Given the description of an element on the screen output the (x, y) to click on. 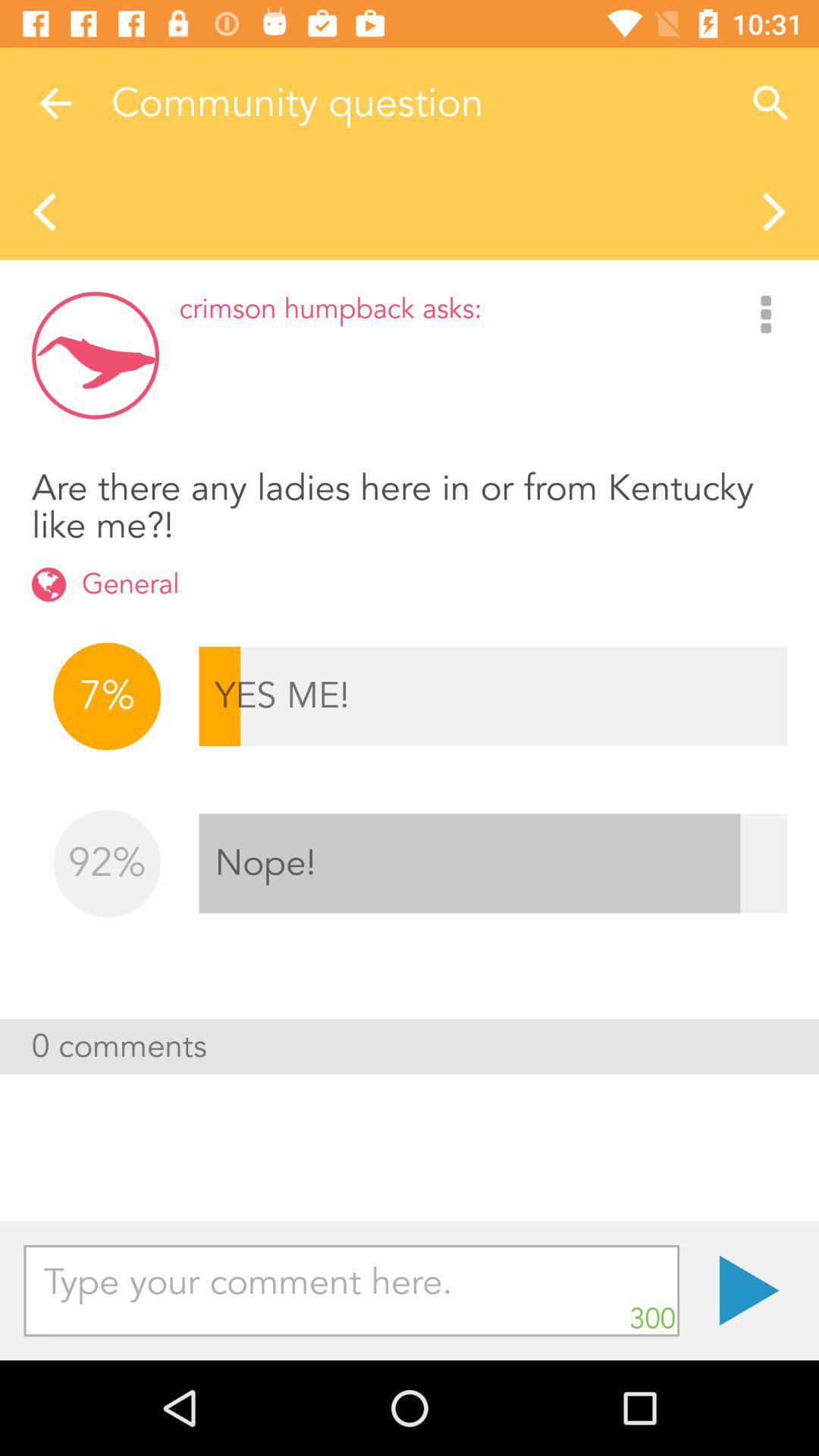
launch the icon next to crimson humpback asks: icon (766, 315)
